Given the description of an element on the screen output the (x, y) to click on. 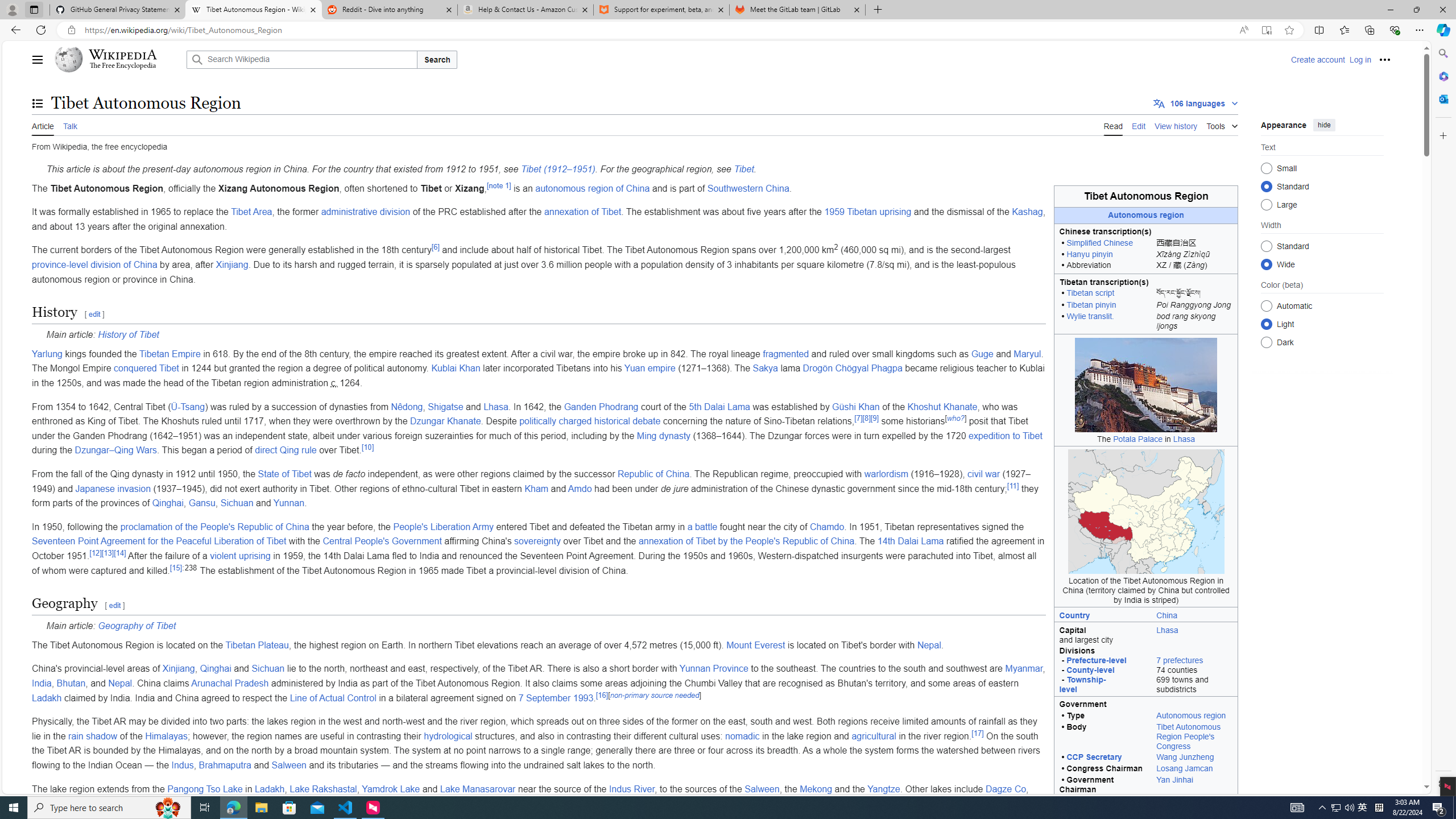
[9] (874, 417)
Ganden Phodrang (601, 406)
bod rang skyong ljongs (1194, 322)
[12] (94, 552)
Create account (1317, 58)
[15] (175, 567)
Class: mergedrow (1145, 785)
Tibet (743, 169)
Read (1112, 124)
autonomous region of China (592, 188)
Autonomous region (1190, 715)
